Given the description of an element on the screen output the (x, y) to click on. 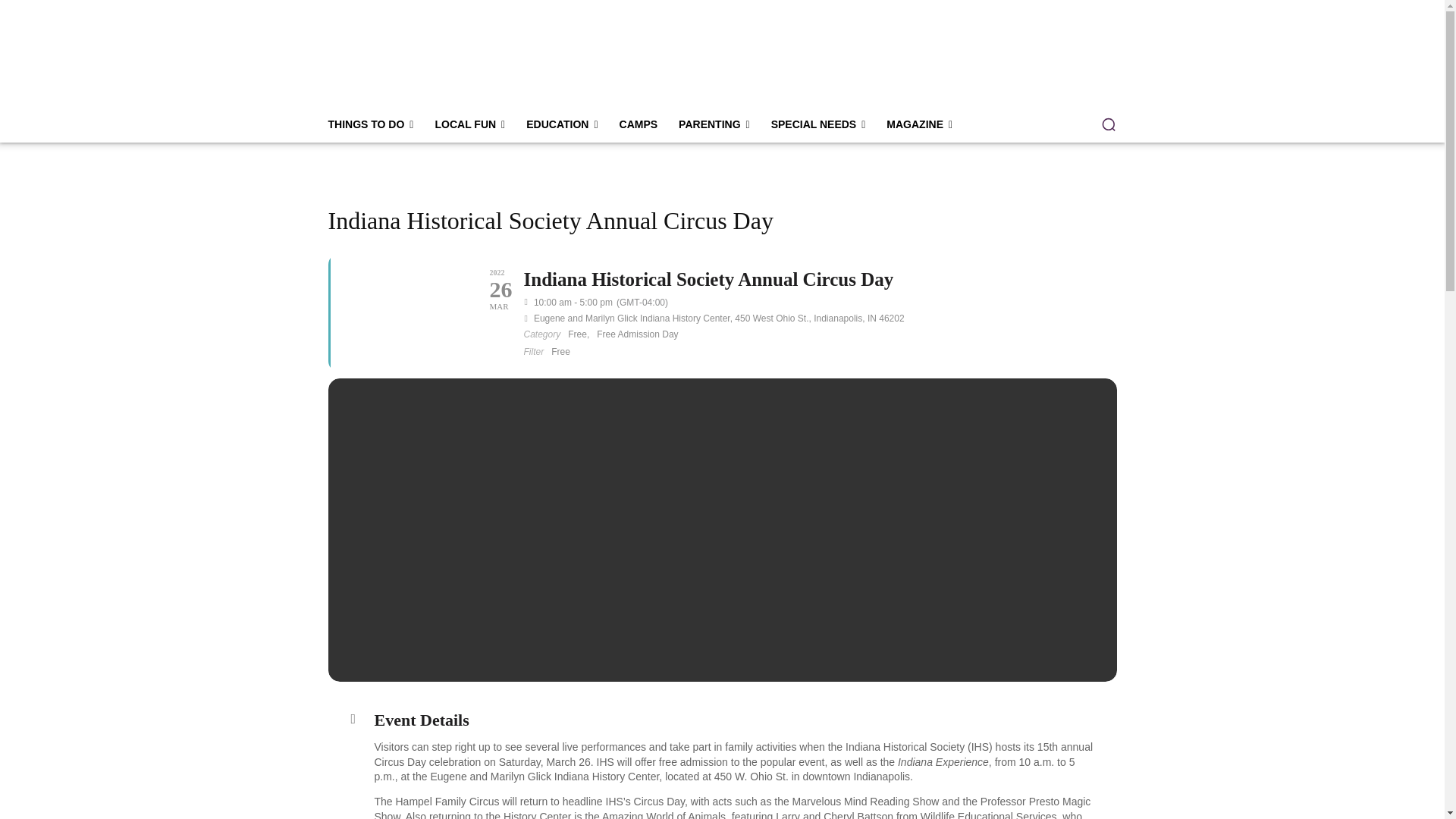
Indy's Child Magazine (406, 61)
